Given the description of an element on the screen output the (x, y) to click on. 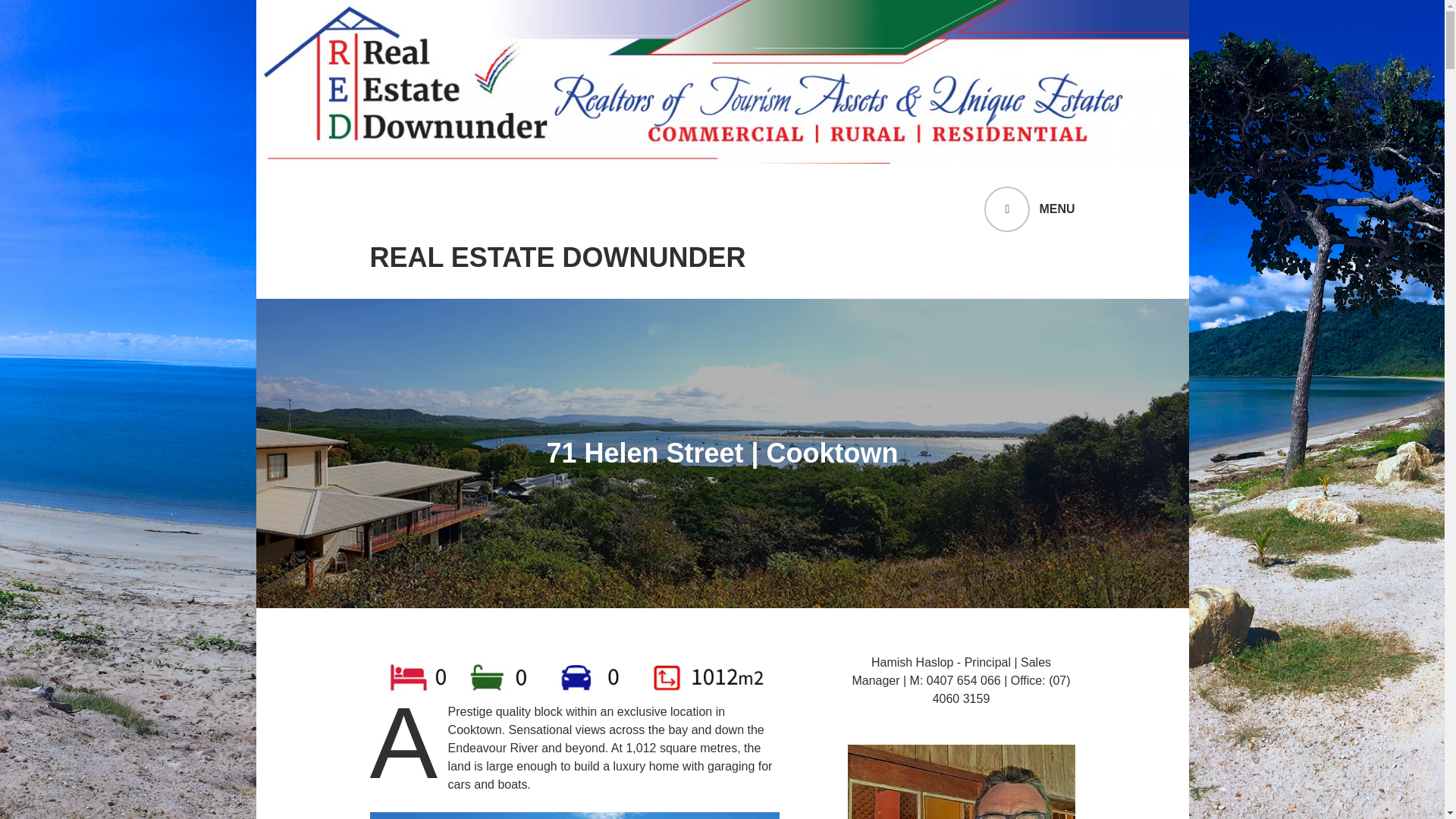
MENU (1029, 208)
REAL ESTATE DOWNUNDER (557, 257)
